Given the description of an element on the screen output the (x, y) to click on. 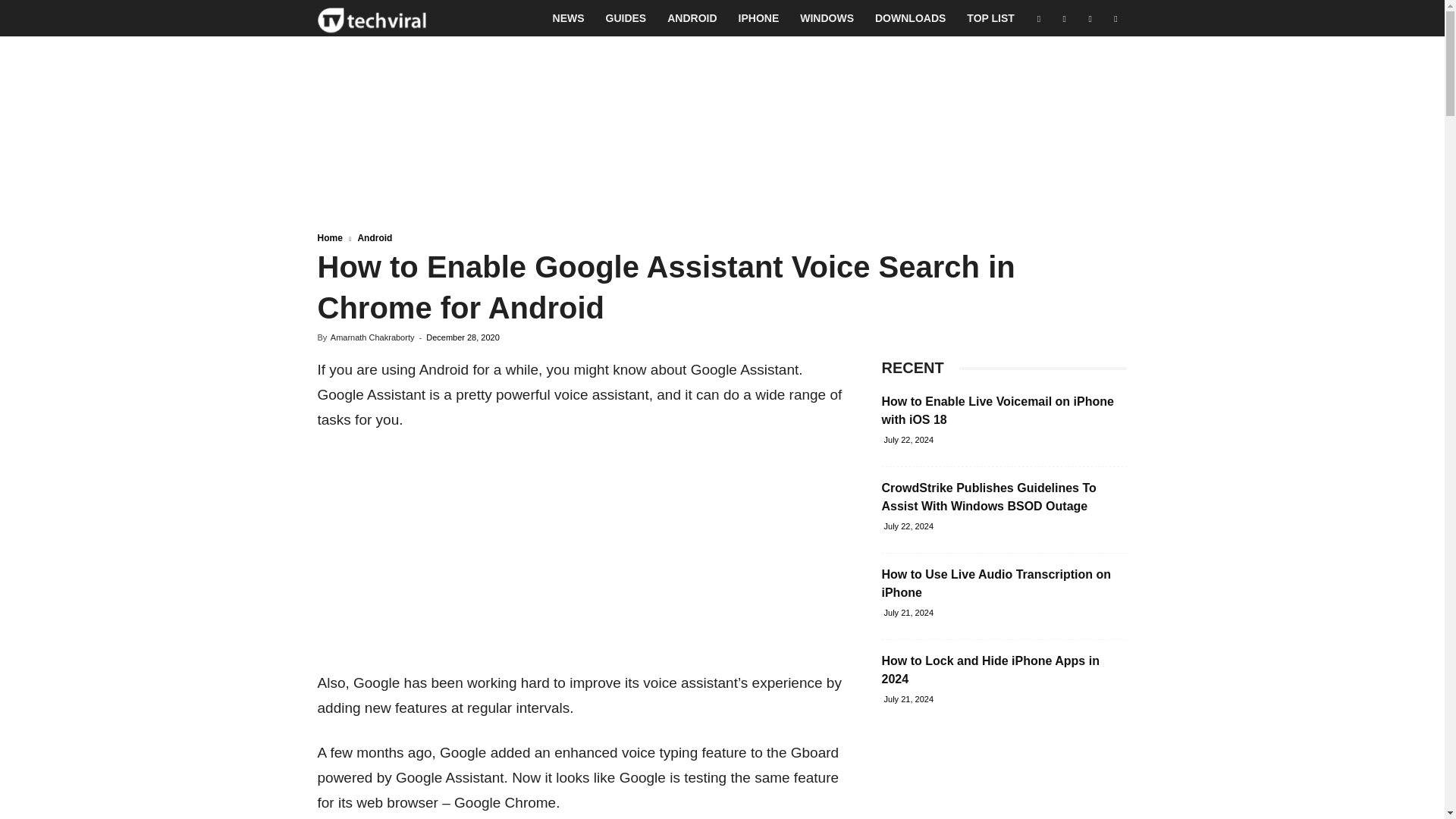
Amarnath Chakraborty (372, 337)
TOP LIST (990, 18)
WINDOWS (826, 18)
ANDROID (691, 18)
TechViral (371, 18)
DOWNLOADS (910, 18)
IPHONE (759, 18)
GUIDES (626, 18)
Tech Viral (371, 18)
Home (329, 237)
NEWS (568, 18)
